Given the description of an element on the screen output the (x, y) to click on. 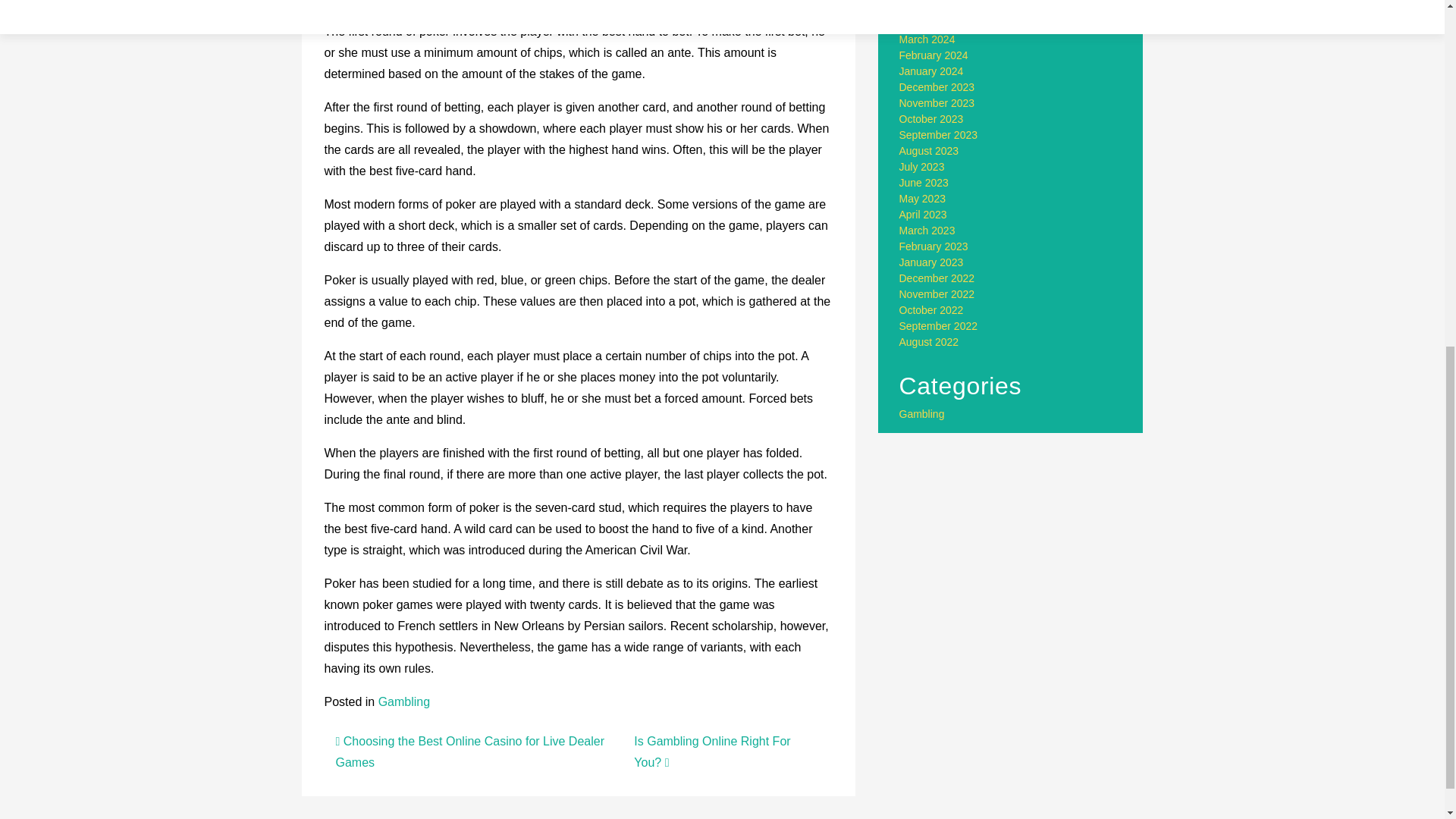
September 2023 (938, 134)
Is Gambling Online Right For You?  (711, 751)
May 2024 (921, 7)
August 2023 (929, 150)
September 2022 (938, 326)
April 2023 (923, 214)
October 2023 (931, 119)
August 2022 (929, 341)
November 2023 (937, 102)
July 2023 (921, 166)
January 2024 (931, 70)
May 2023 (921, 198)
 Choosing the Best Online Casino for Live Dealer Games (469, 751)
June 2023 (924, 182)
December 2023 (937, 87)
